Given the description of an element on the screen output the (x, y) to click on. 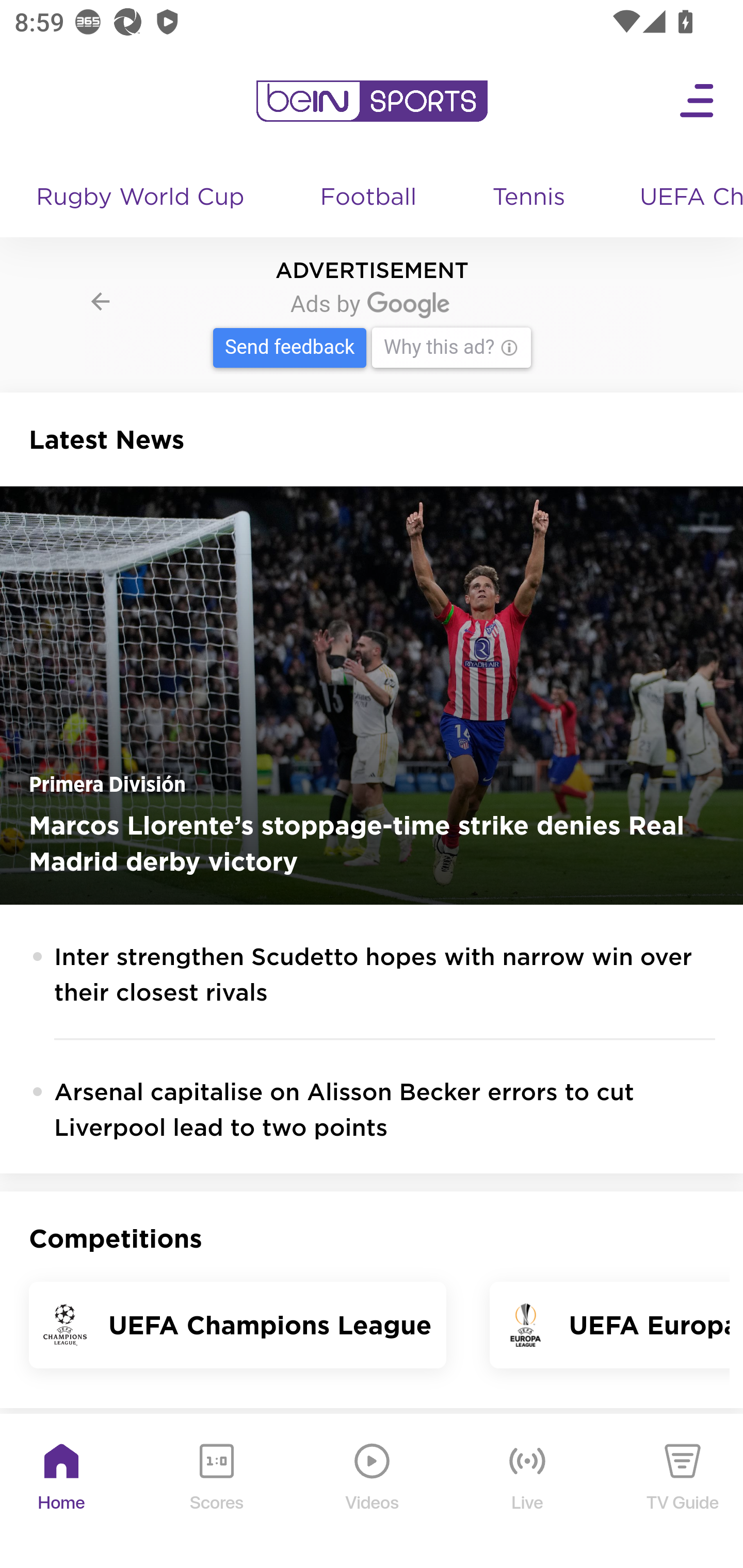
en-my?platform=mobile_android bein logo (371, 101)
Open Menu Icon (697, 101)
Rugby World Cup (142, 198)
Football (369, 198)
Tennis (530, 198)
UEFA Champions League (683, 198)
l8psv8uu (372, 328)
Home Home Icon Home (61, 1491)
Scores Scores Icon Scores (216, 1491)
Videos Videos Icon Videos (372, 1491)
TV Guide TV Guide Icon TV Guide (682, 1491)
